Given the description of an element on the screen output the (x, y) to click on. 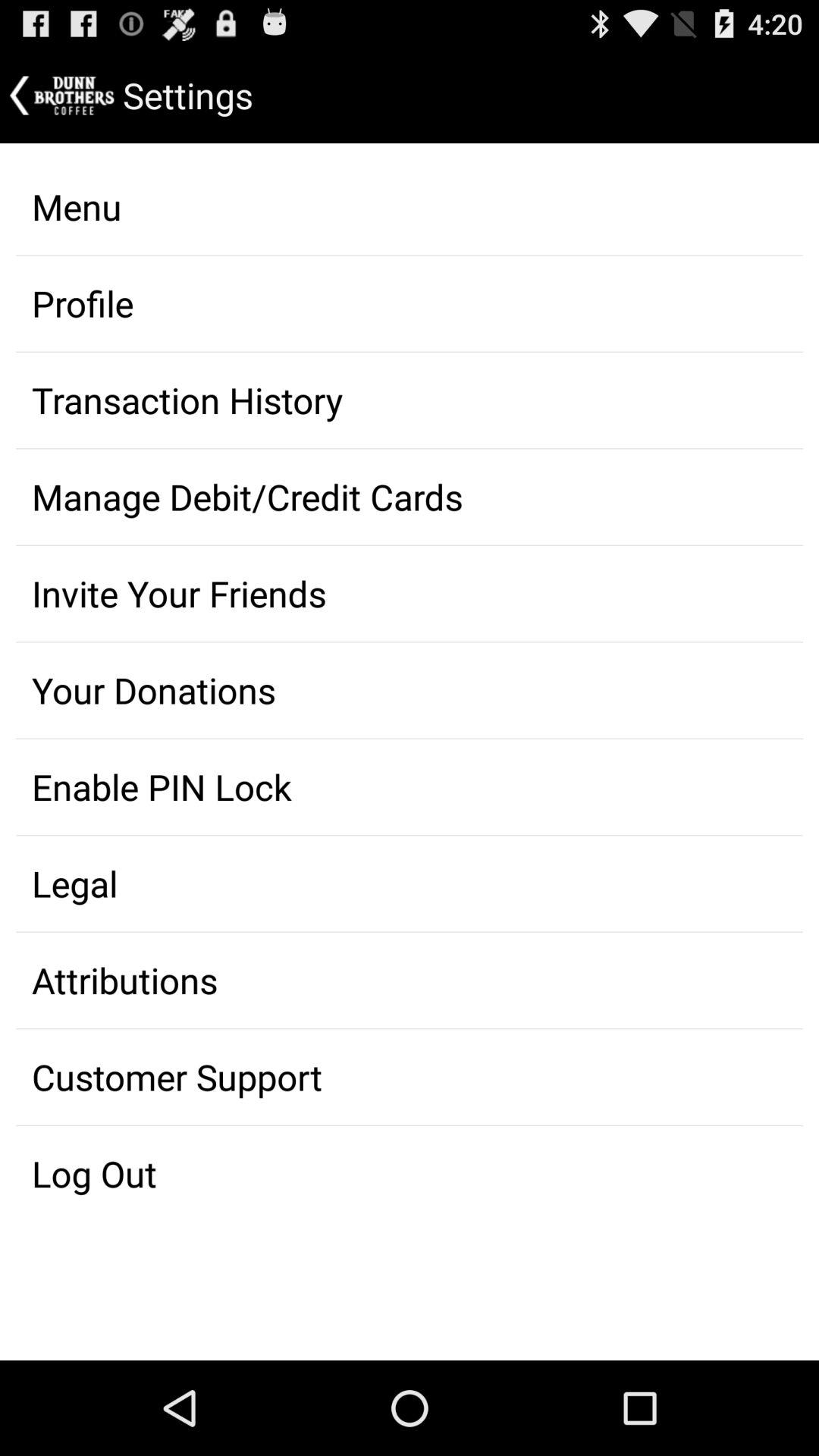
tap the icon above the log out item (409, 1076)
